Given the description of an element on the screen output the (x, y) to click on. 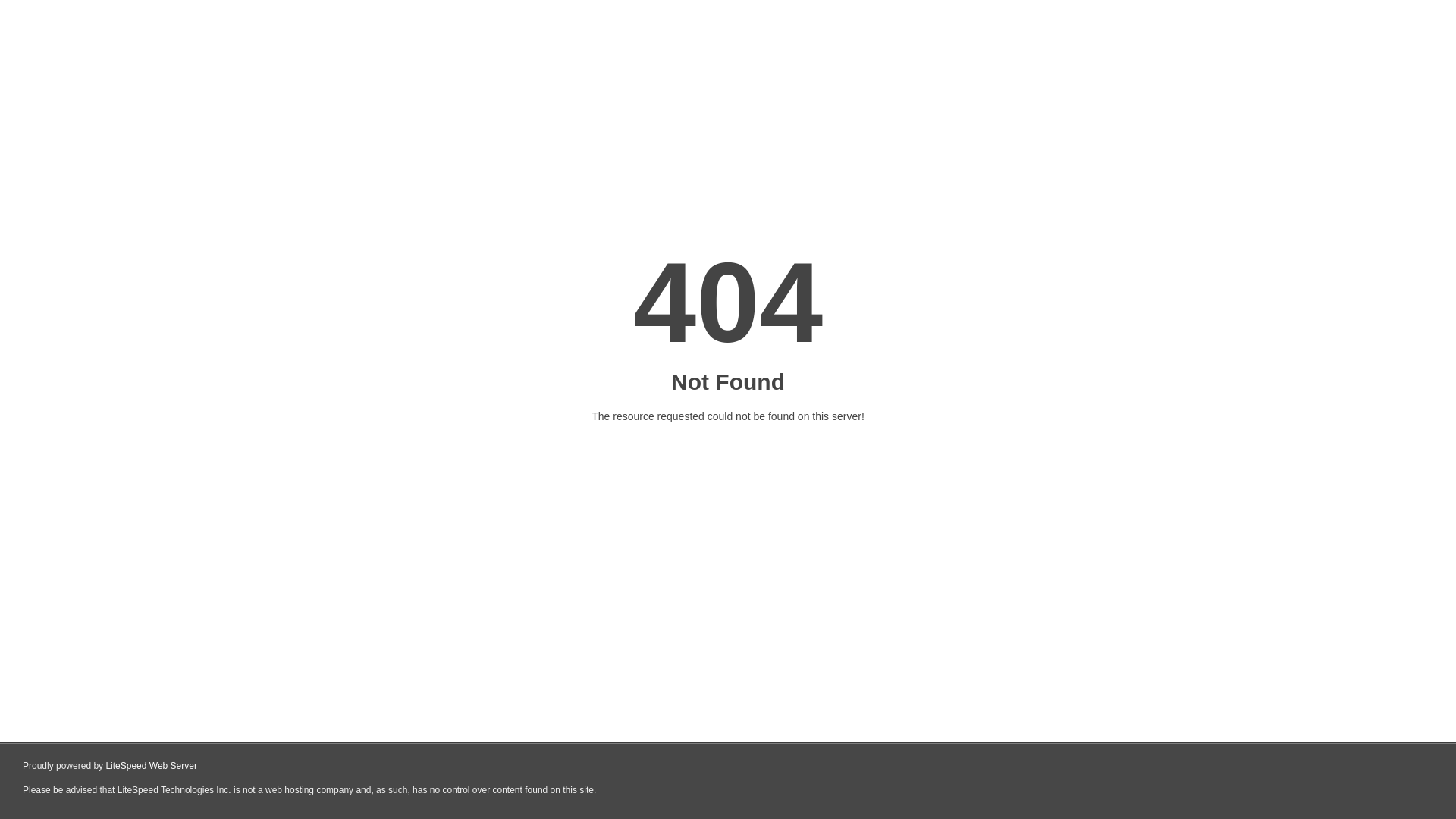
LiteSpeed Web Server Element type: text (151, 765)
